Given the description of an element on the screen output the (x, y) to click on. 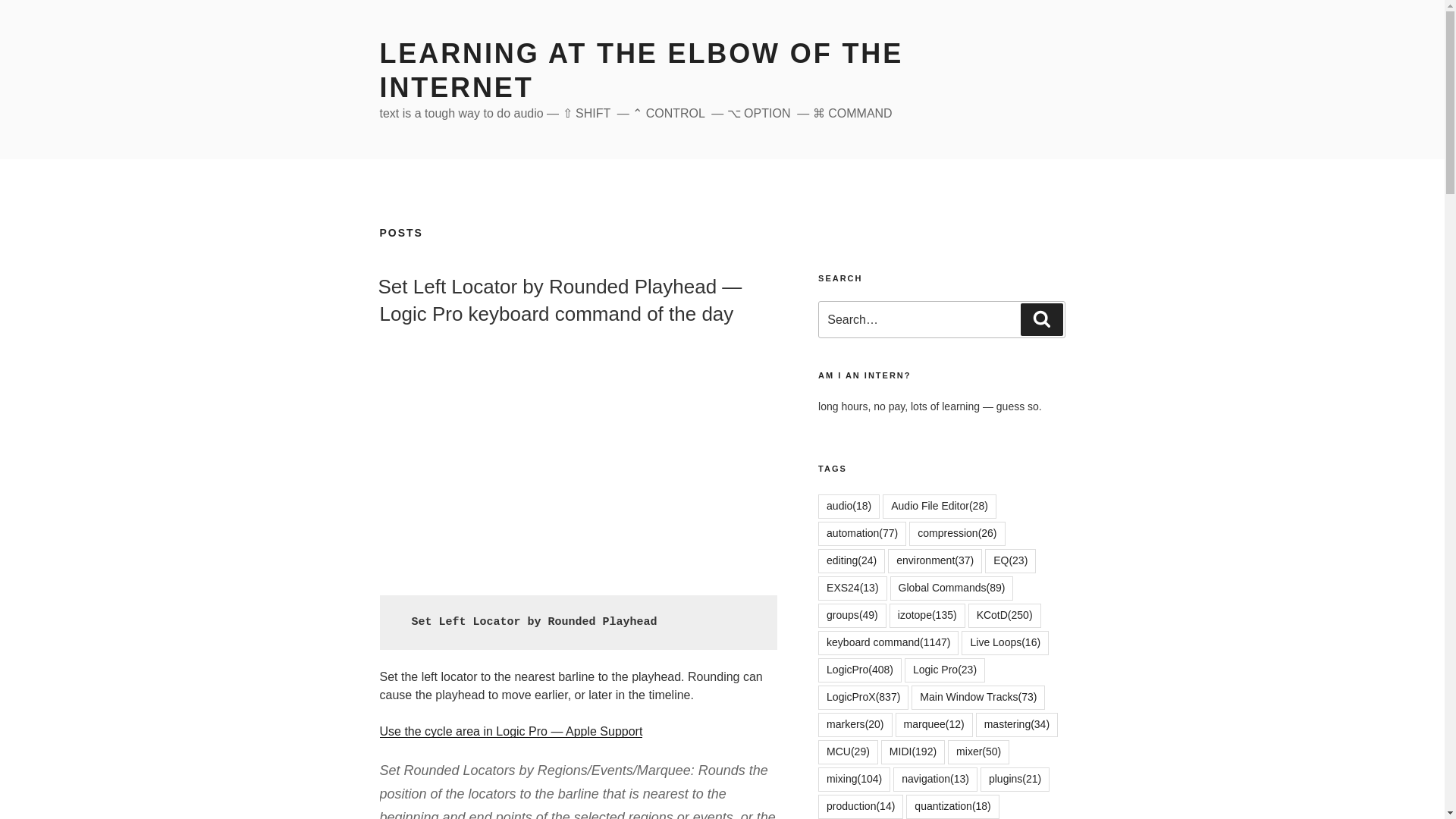
Search (1041, 318)
LEARNING AT THE ELBOW OF THE INTERNET (640, 70)
Advertisement (577, 458)
Use the cycle area in Logic Pro - Apple Support (510, 730)
